Given the description of an element on the screen output the (x, y) to click on. 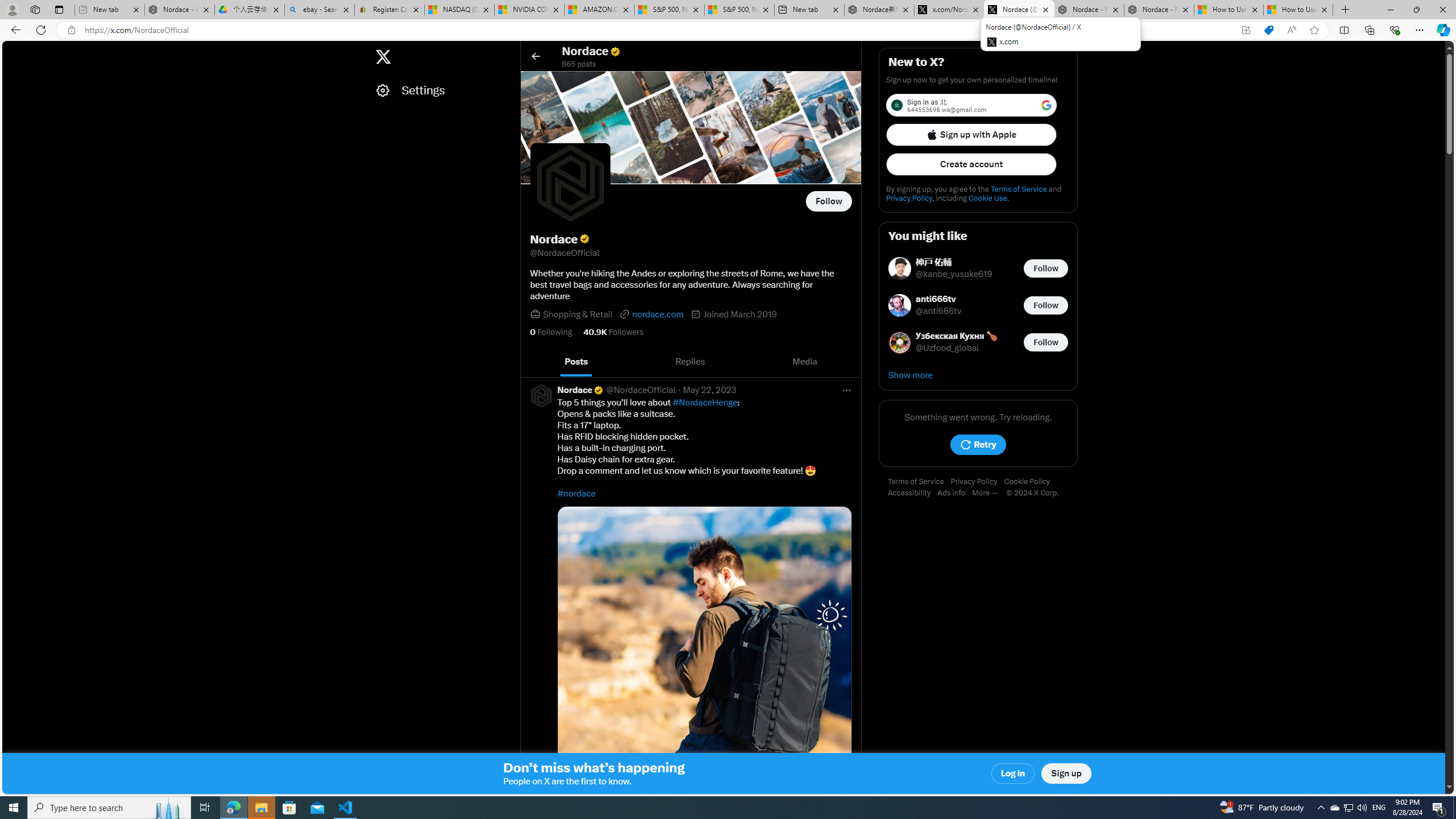
Sign up with Apple (971, 134)
@Uzfood_global (947, 348)
S&P 500, Nasdaq end lower, weighed by Nvidia dip | Watch (738, 9)
Provides details about verified accounts. (583, 238)
0 Following (550, 331)
Image (704, 653)
Nordace Verified account (580, 389)
40.9K Followers (612, 331)
Privacy Policy (977, 481)
Image (704, 653)
